Given the description of an element on the screen output the (x, y) to click on. 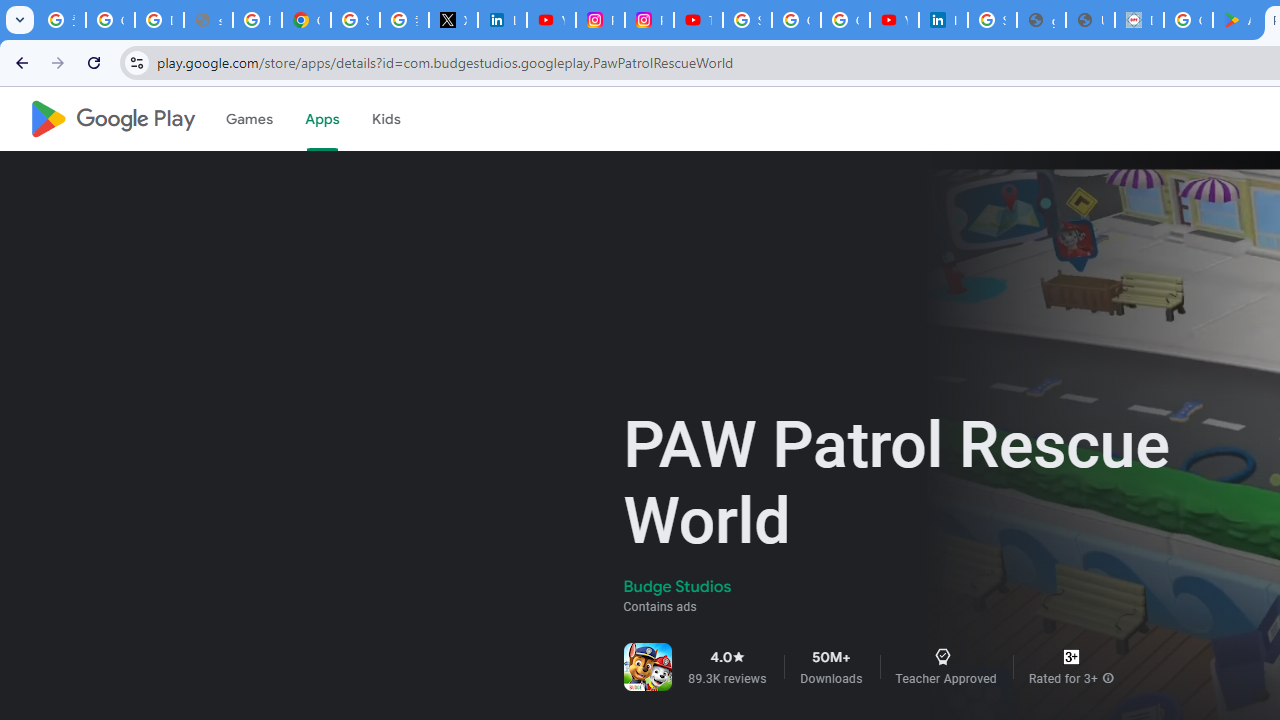
Games (248, 119)
Google Play logo (111, 119)
YouTube Content Monetization Policies - How YouTube Works (551, 20)
Content rating (1071, 656)
support.google.com - Network error (208, 20)
More info about this content rating (1108, 678)
Data Privacy Framework (1138, 20)
Apps (321, 119)
Budge Studios (677, 586)
User Details (1090, 20)
